Given the description of an element on the screen output the (x, y) to click on. 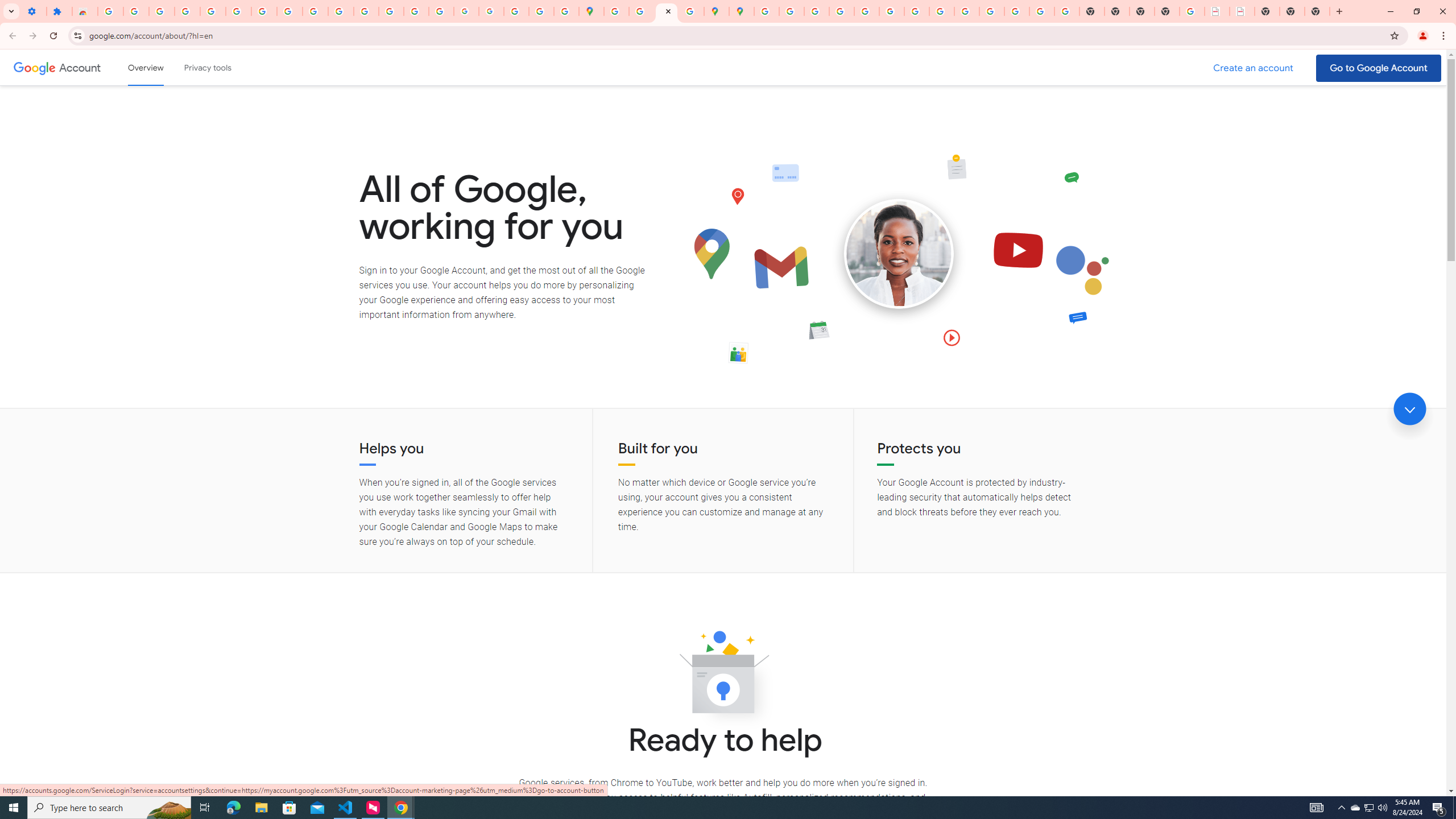
Google Account (80, 67)
Settings - On startup (34, 11)
Learn how to find your photos - Google Photos Help (186, 11)
Browse Chrome as a guest - Computer - Google Chrome Help (941, 11)
YouTube (315, 11)
Privacy tools (207, 67)
Google logo (34, 67)
